Given the description of an element on the screen output the (x, y) to click on. 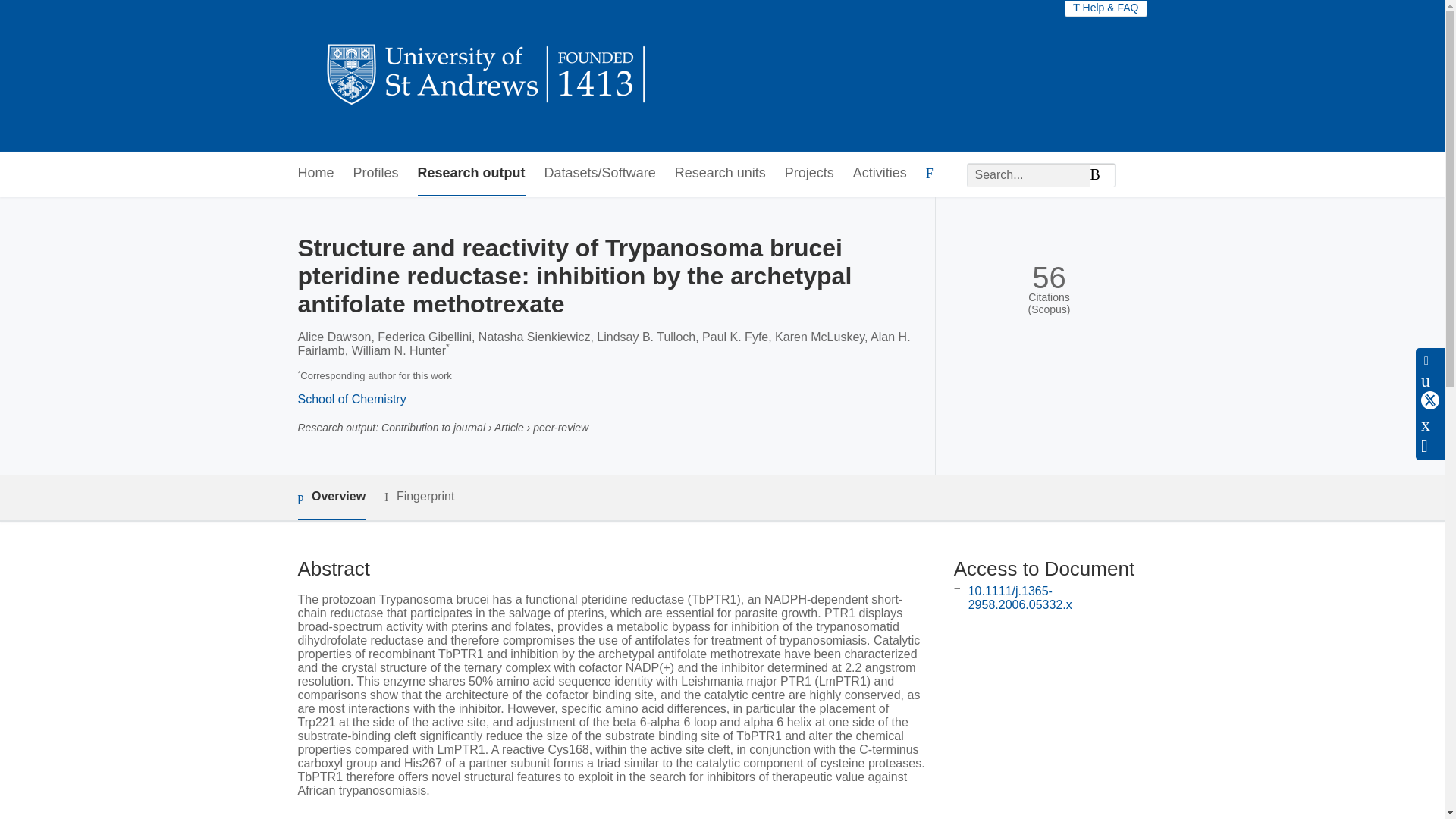
Fingerprint (419, 496)
Overview (331, 497)
University of St Andrews Research Portal Home (487, 75)
Research units (720, 173)
Activities (880, 173)
School of Chemistry (351, 399)
Profiles (375, 173)
Research output (471, 173)
Projects (809, 173)
